Given the description of an element on the screen output the (x, y) to click on. 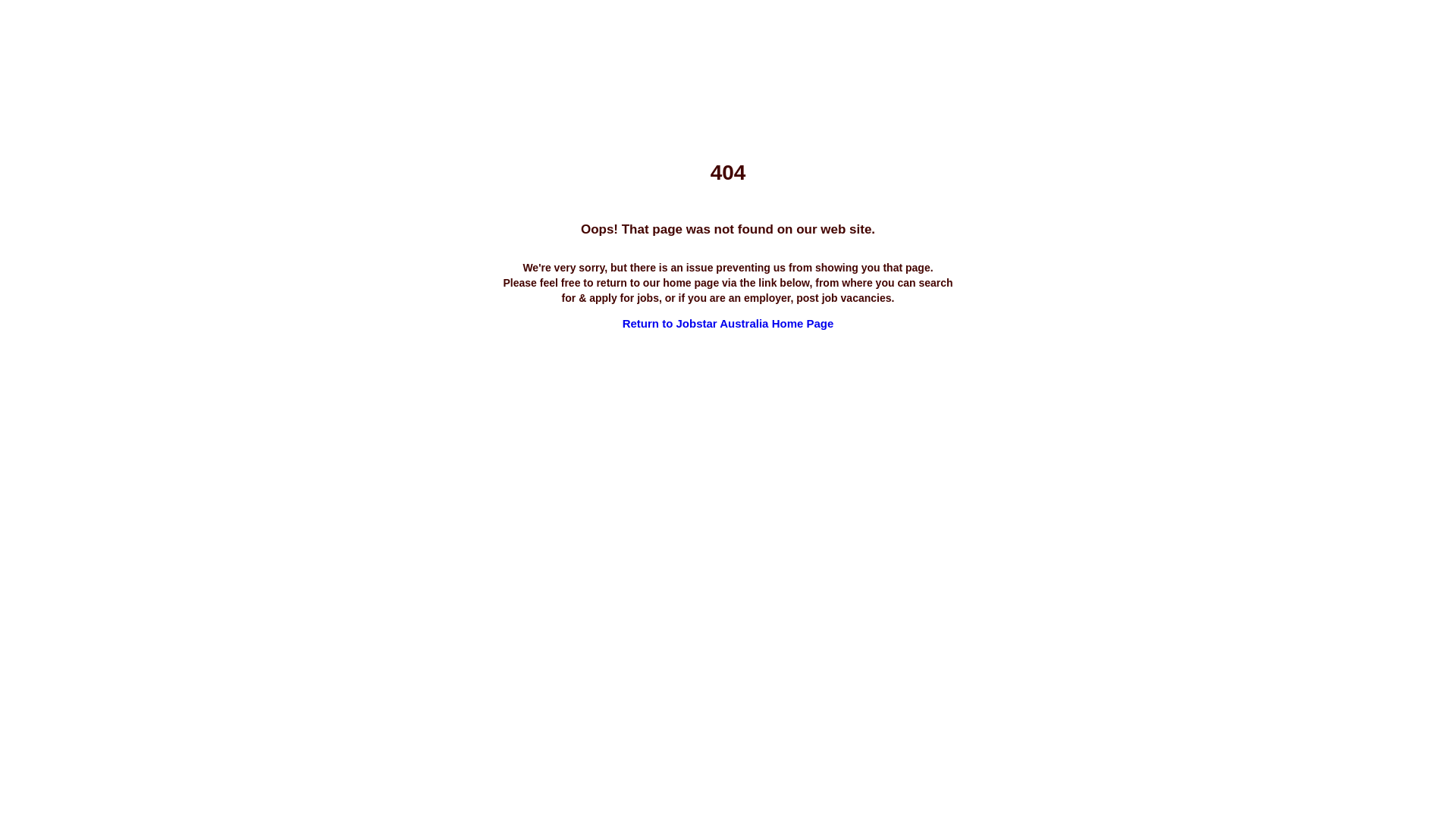
Return to Jobstar Australia Home Page Element type: text (728, 322)
